Given the description of an element on the screen output the (x, y) to click on. 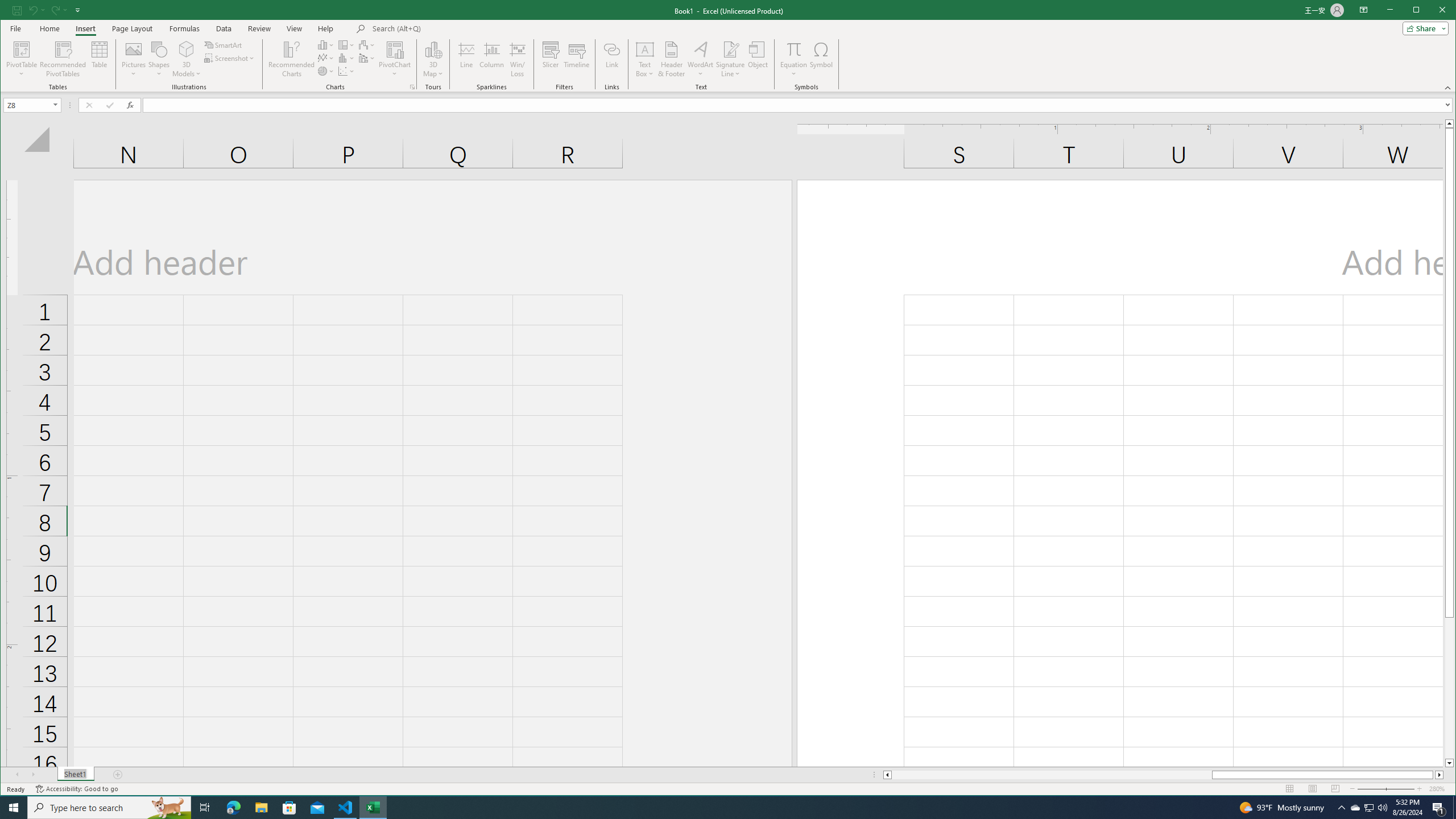
System (10, 10)
PivotChart (394, 48)
Zoom (1384, 788)
Insert Hierarchy Chart (346, 44)
Quick Access Toolbar (46, 9)
Formula Bar (799, 104)
Collapse the Ribbon (1448, 87)
Customize Quick Access Toolbar (77, 9)
Column right (1439, 774)
Insert (85, 28)
More Options (793, 69)
Normal (1289, 788)
Excel - 1 running window (373, 807)
Header & Footer... (670, 59)
